Given the description of an element on the screen output the (x, y) to click on. 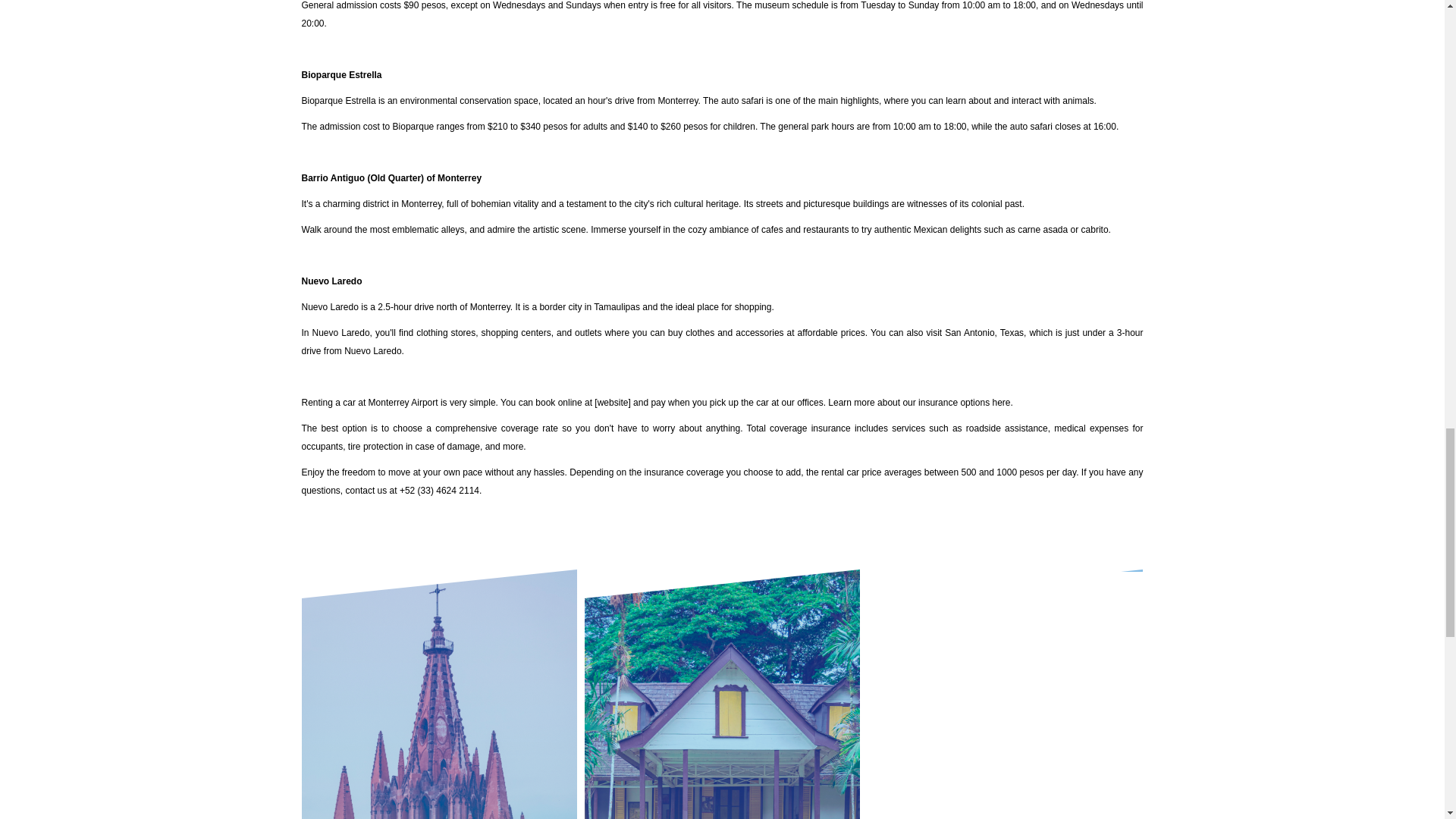
coverage (703, 471)
Trinidad Piarco Airport (722, 701)
Tulum Downtown (1004, 701)
Bajio Airport (438, 701)
